Given the description of an element on the screen output the (x, y) to click on. 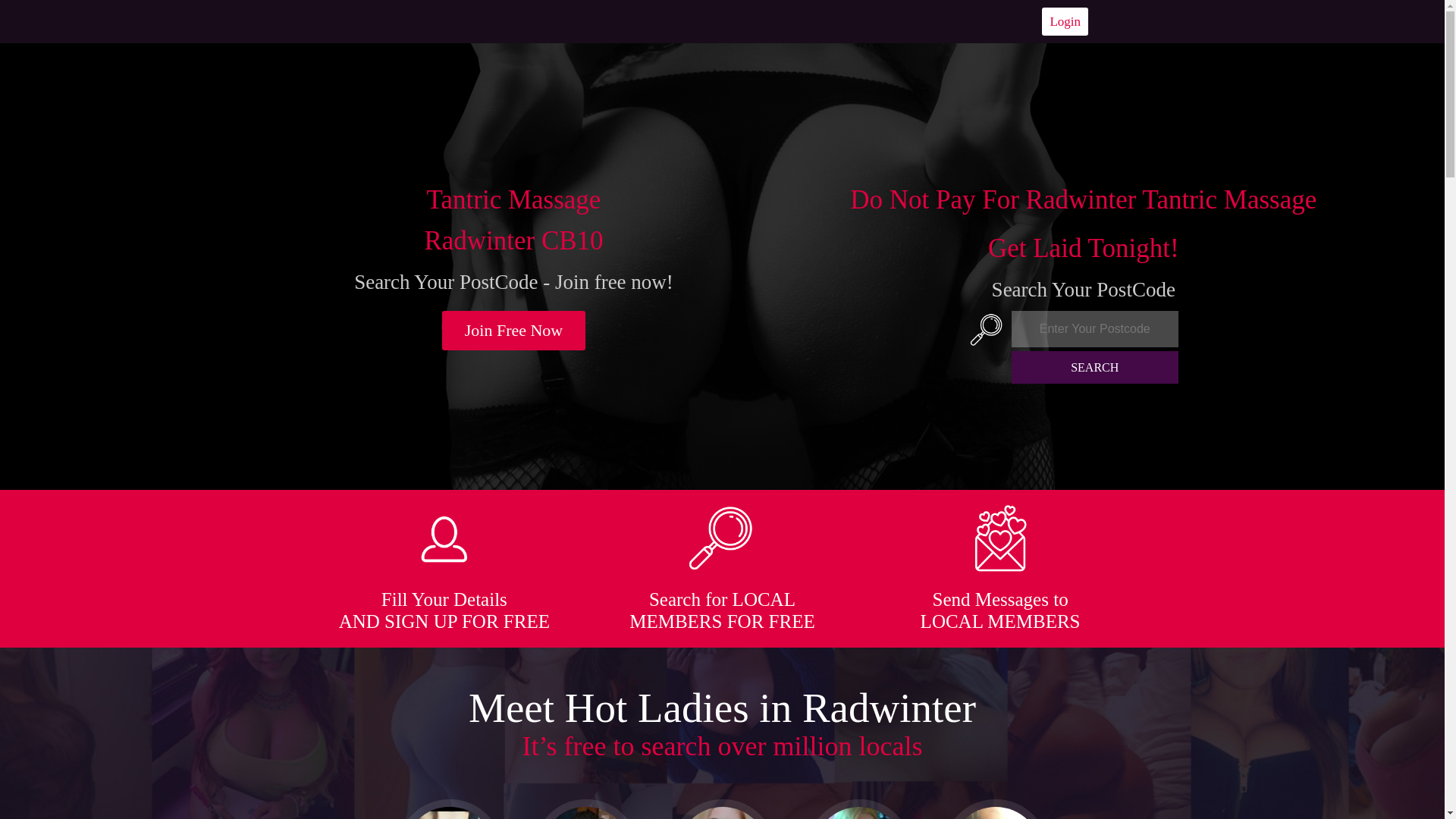
Login (1064, 21)
Join Free Now (514, 330)
SEARCH (1094, 367)
Join (514, 330)
Login (1064, 21)
